Given the description of an element on the screen output the (x, y) to click on. 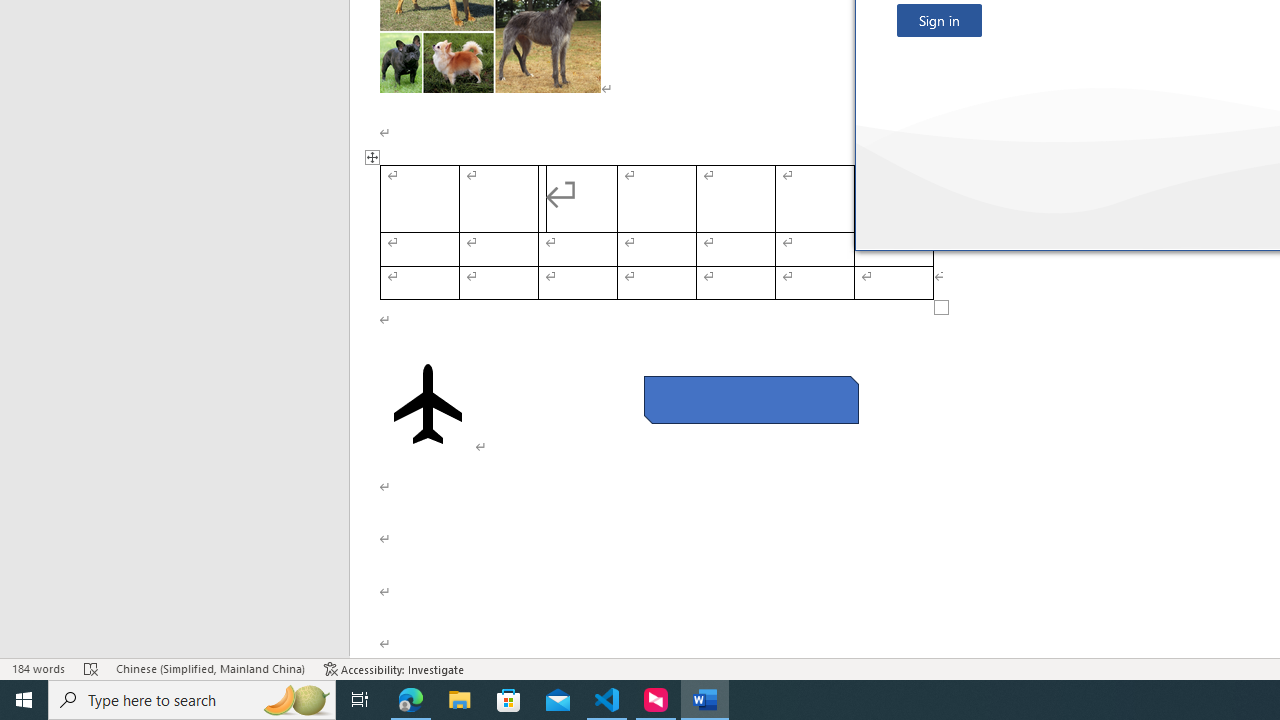
Rectangle: Diagonal Corners Snipped 2 (750, 399)
Sign in (939, 20)
Word Count 184 words (37, 668)
Microsoft Edge - 1 running window (411, 699)
Word - 1 running window (704, 699)
